Given the description of an element on the screen output the (x, y) to click on. 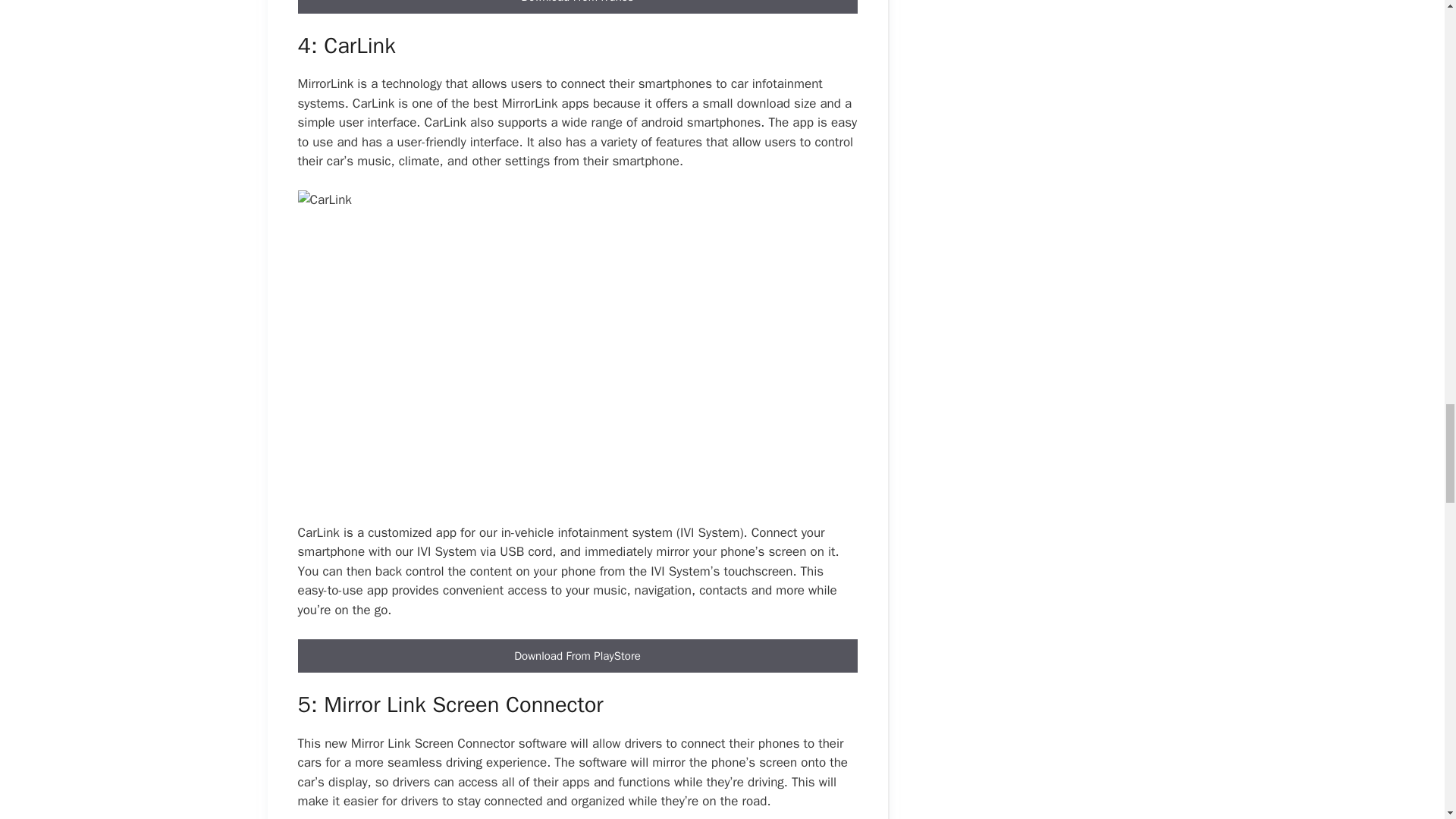
Download From PlayStore (577, 655)
Download From iTunes (577, 7)
Download From PlayStore (577, 656)
